Given the description of an element on the screen output the (x, y) to click on. 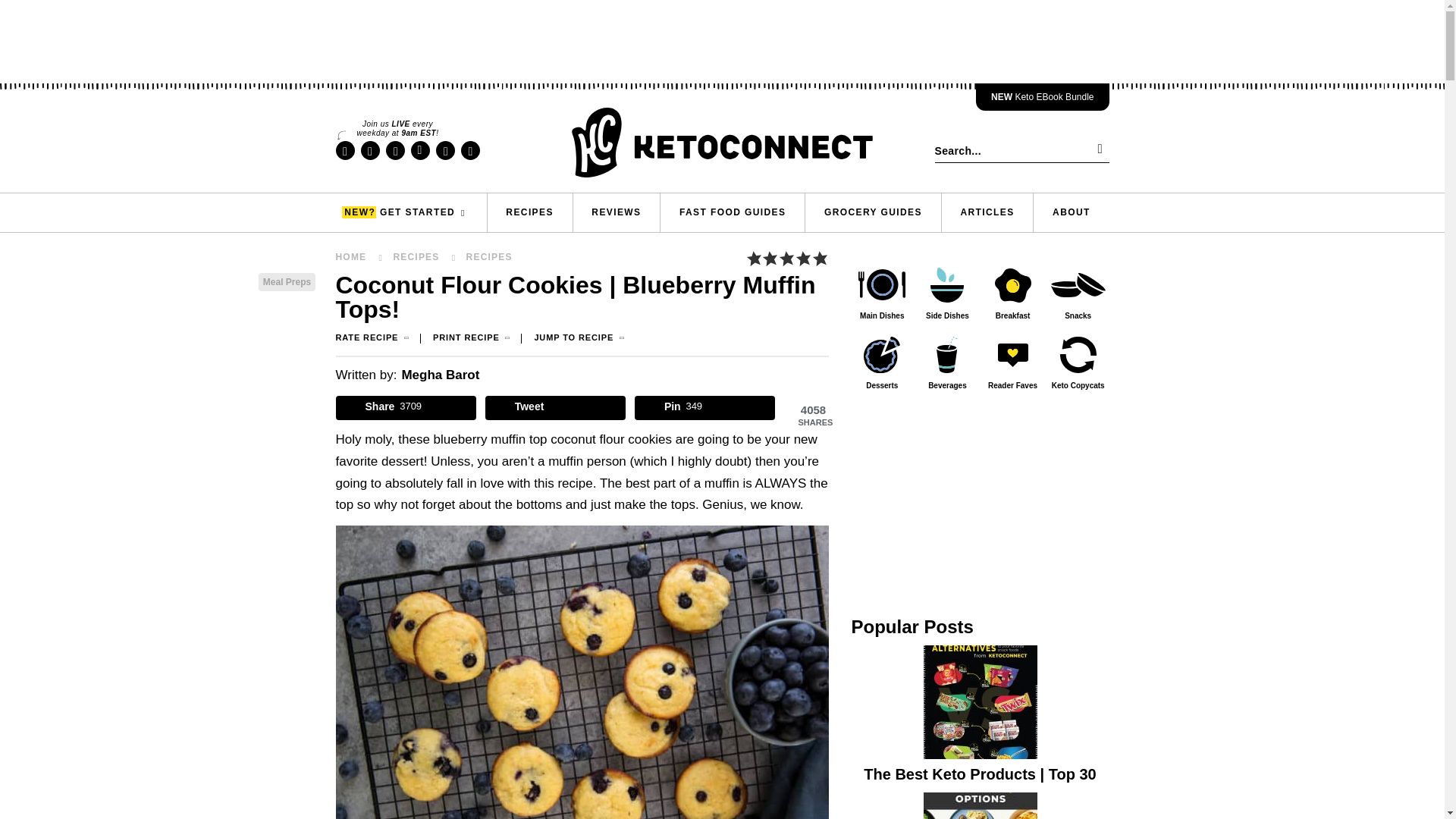
Save to Pinterest (705, 407)
Share on Facebook (405, 407)
RECIPES (529, 212)
Share on X (555, 407)
Search (1096, 150)
Search (1096, 150)
NEW Keto EBook Bundle (1041, 96)
Search (1096, 150)
